Given the description of an element on the screen output the (x, y) to click on. 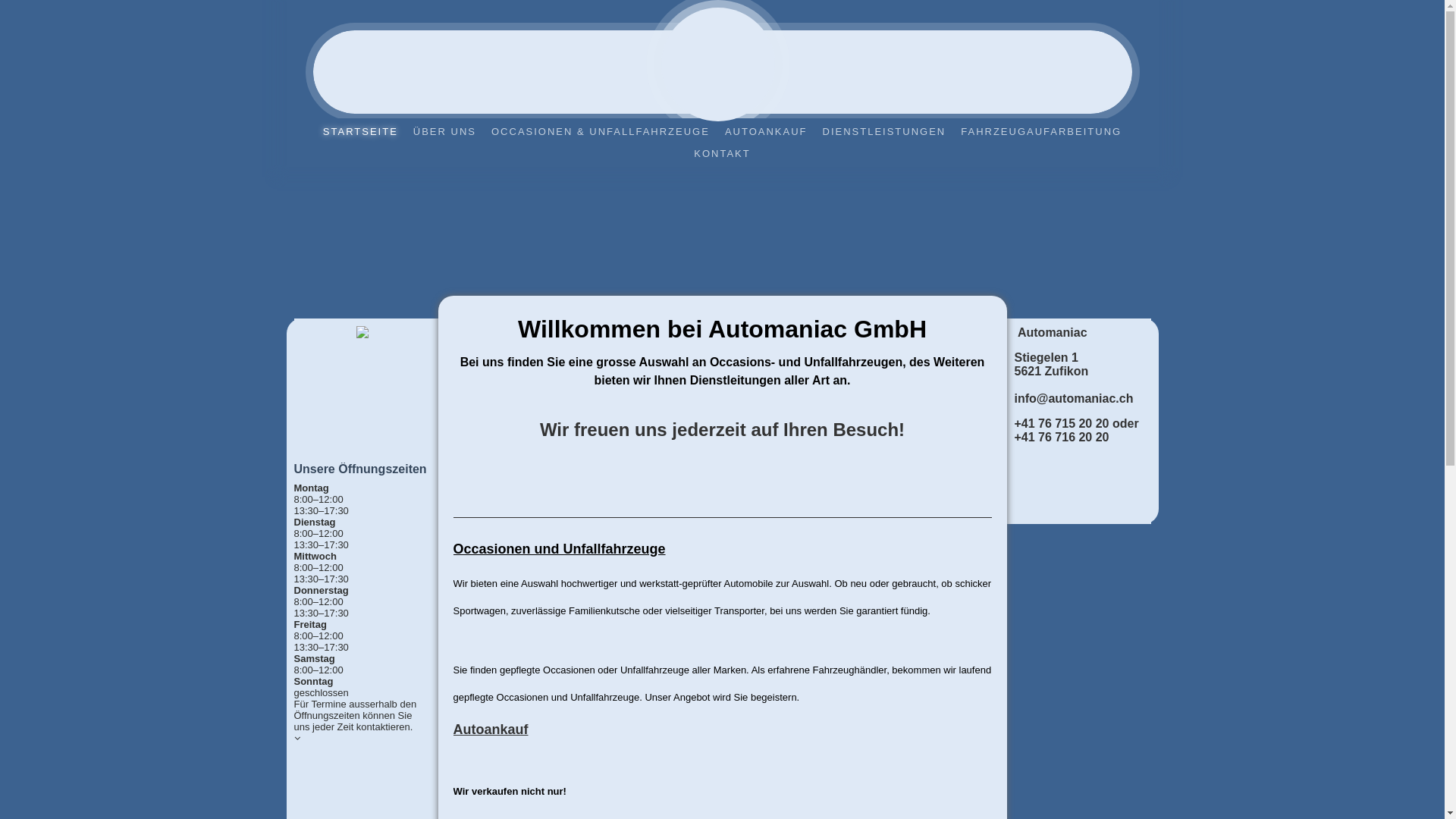
AUTOANKAUF Element type: text (766, 131)
KONTAKT Element type: text (721, 153)
OCCASIONEN & UNFALLFAHRZEUGE Element type: text (600, 131)
Occasionen und Unfallfahrzeuge Element type: text (559, 548)
DIENSTLEISTUNGEN Element type: text (884, 131)
FAHRZEUGAUFARBEITUNG Element type: text (1041, 131)
STARTSEITE Element type: text (360, 131)
Autoankauf Element type: text (490, 729)
